Given the description of an element on the screen output the (x, y) to click on. 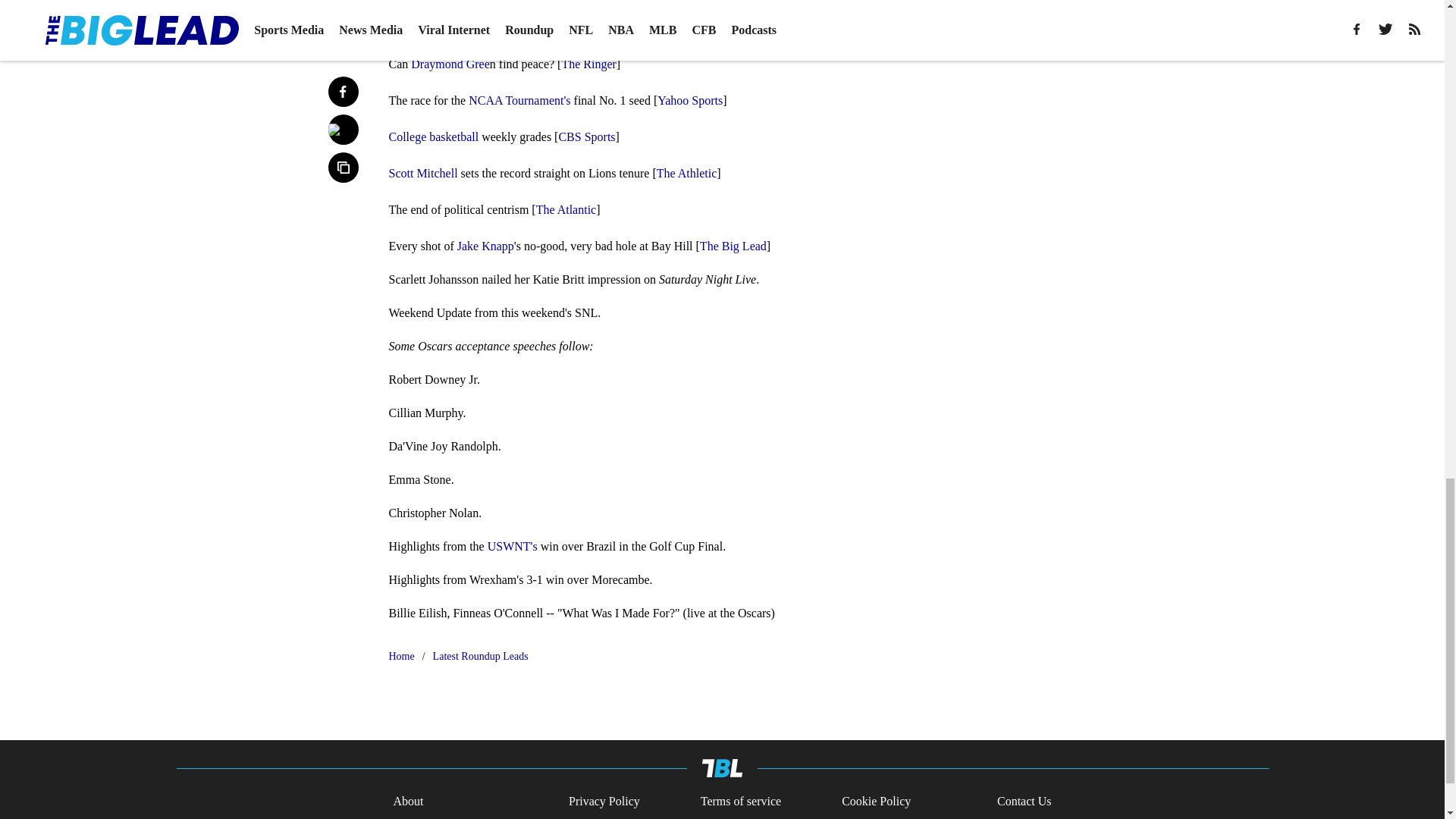
NCAA Tournament's (519, 100)
Kevin Byard to two year deal (702, 11)
USWNT (808, 11)
The Ringer (587, 63)
the Gold Cup over Brazil (449, 30)
going to test free agency (501, 11)
Bears (591, 11)
won the Saudi Arabian Grand Prix (692, 30)
